Given the description of an element on the screen output the (x, y) to click on. 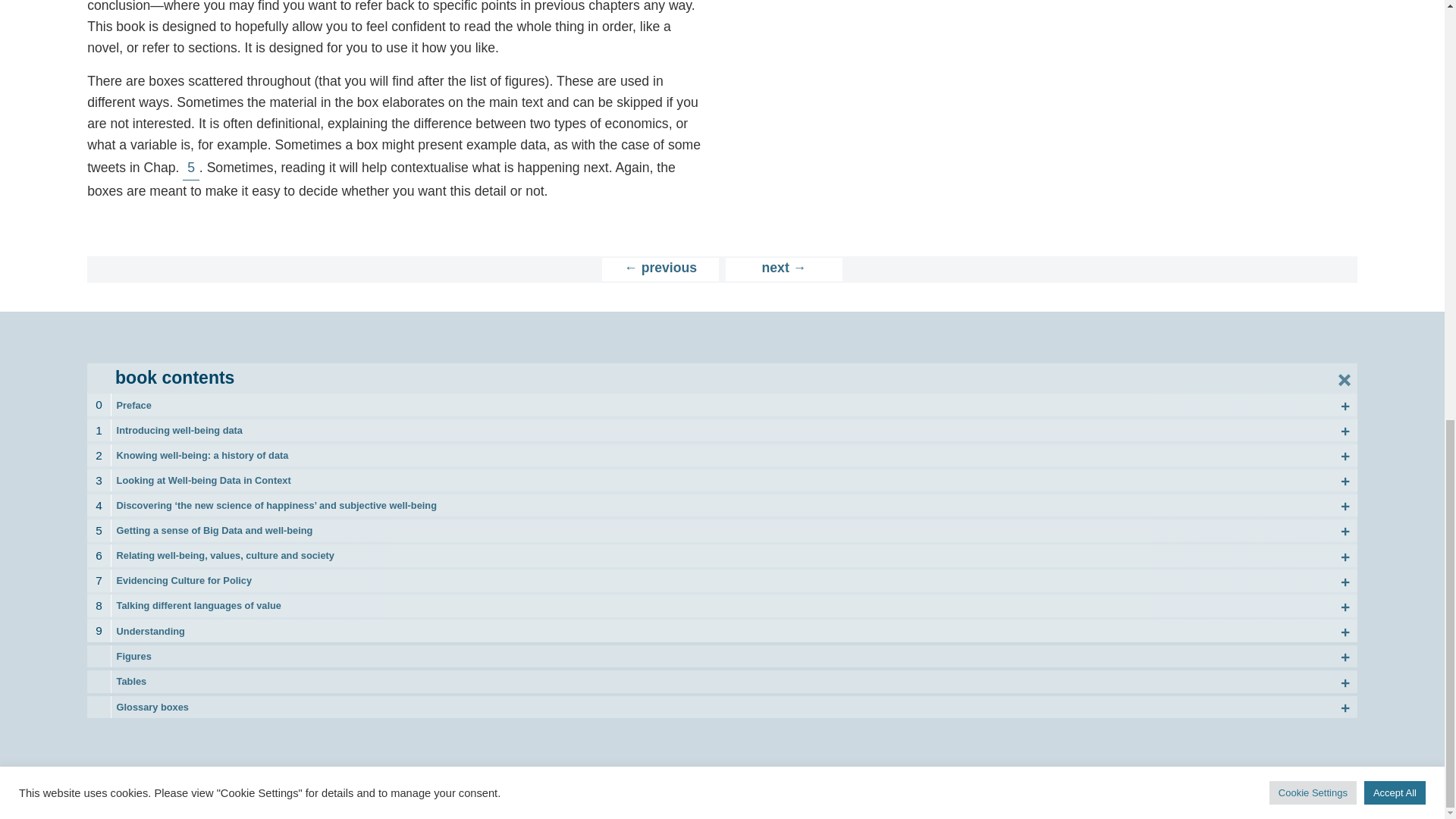
5 (191, 167)
